Given the description of an element on the screen output the (x, y) to click on. 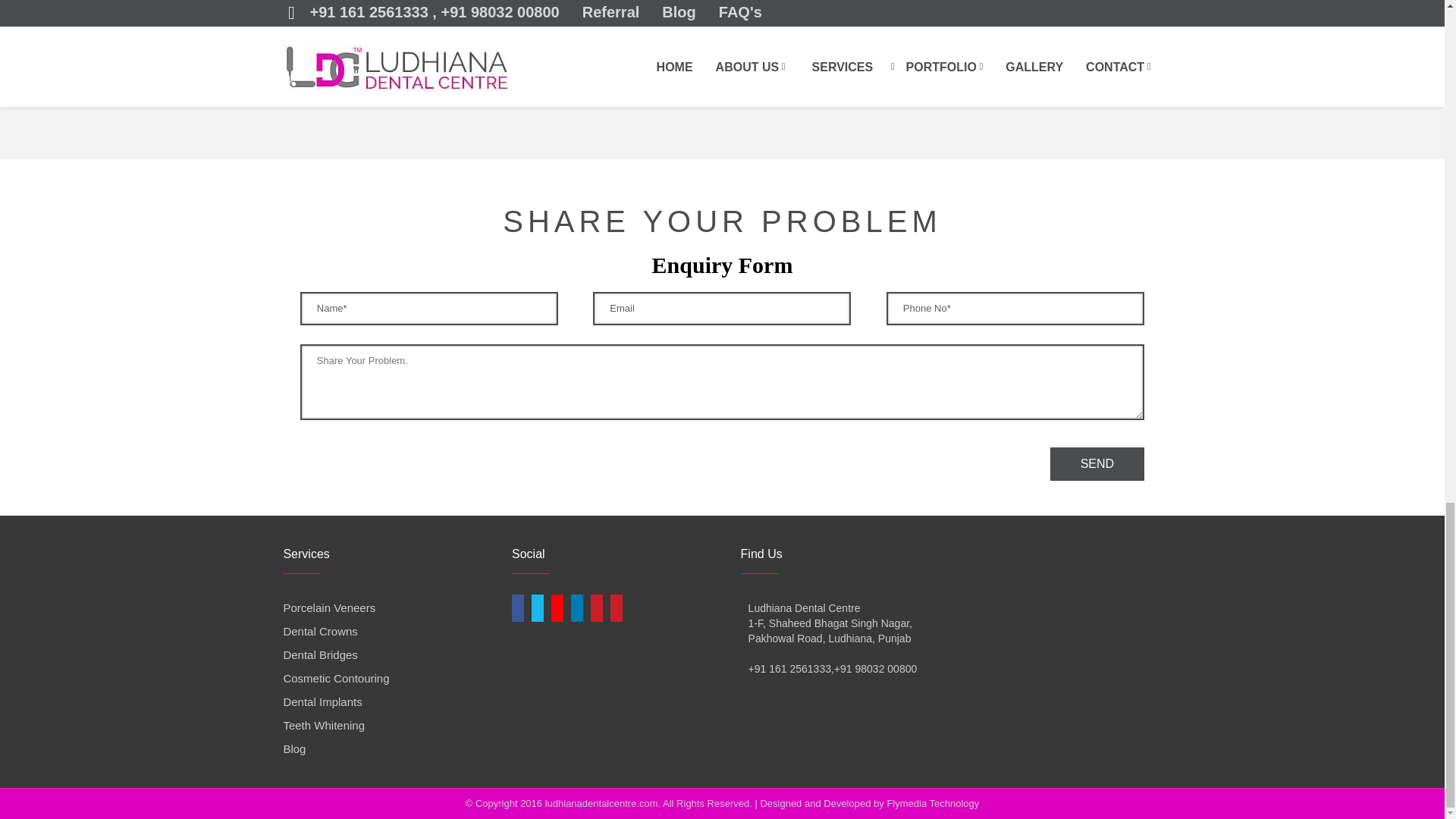
Send (1096, 463)
map-of-wbste (607, 674)
